Given the description of an element on the screen output the (x, y) to click on. 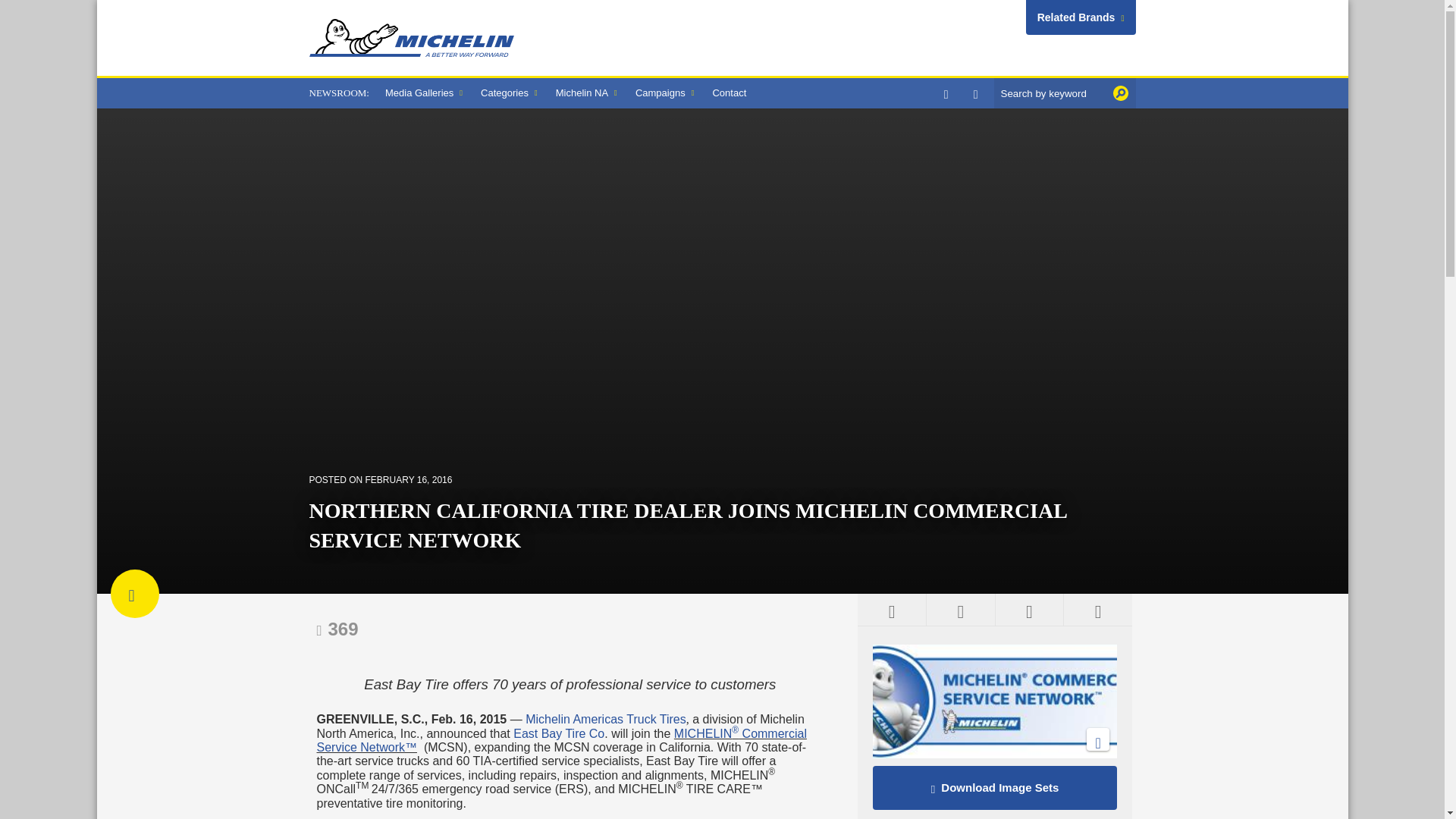
Media Galleries (423, 92)
Get RSS Feed (891, 609)
Michelin NA (586, 92)
Related Brands (1080, 17)
Share Count (337, 629)
E-mail this article (1029, 609)
Categories (509, 92)
Print this article (960, 609)
Share this article (1097, 609)
